Given the description of an element on the screen output the (x, y) to click on. 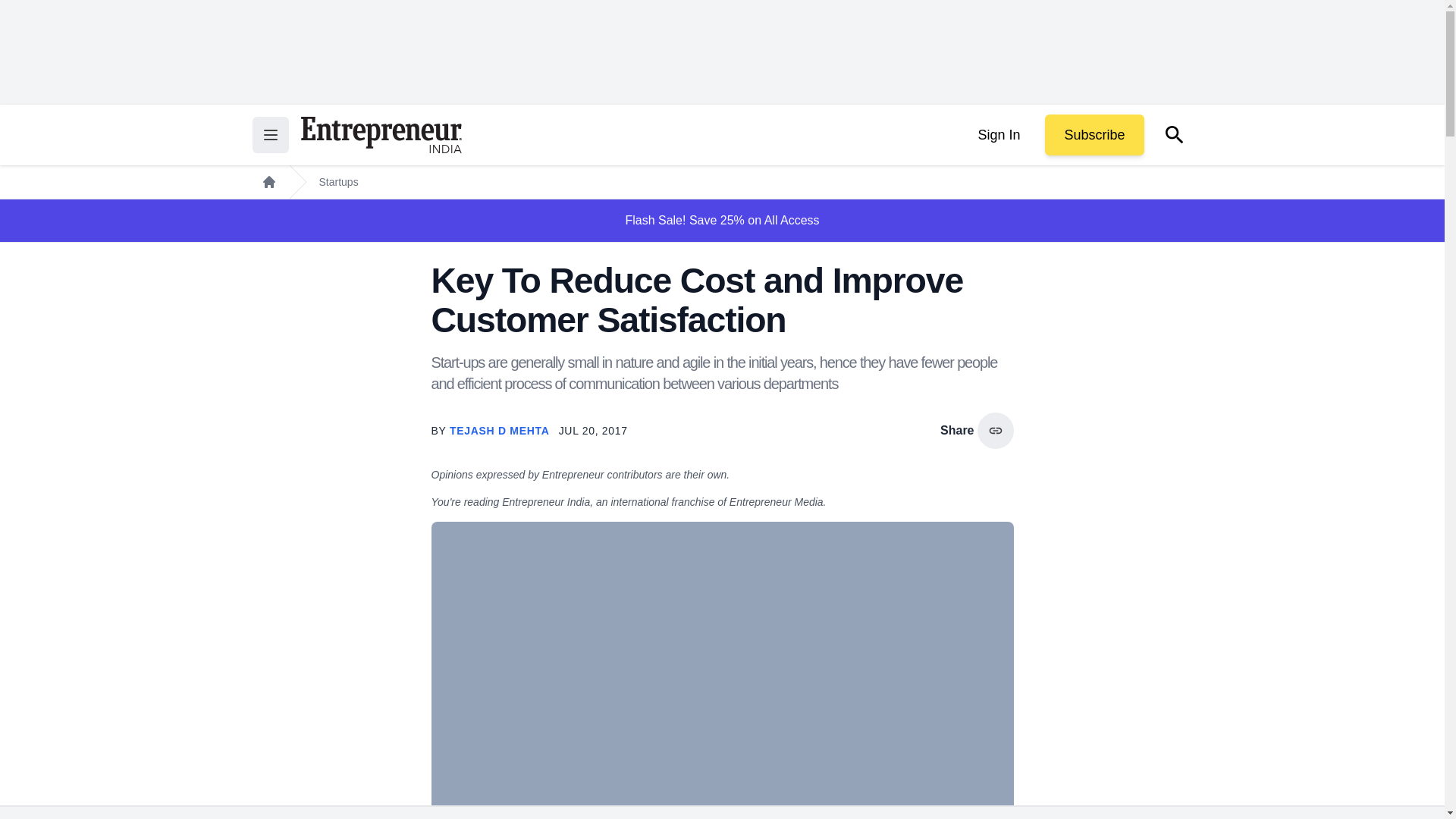
copy (994, 430)
Return to the home page (380, 135)
Subscribe (1093, 134)
Sign In (998, 134)
